Given the description of an element on the screen output the (x, y) to click on. 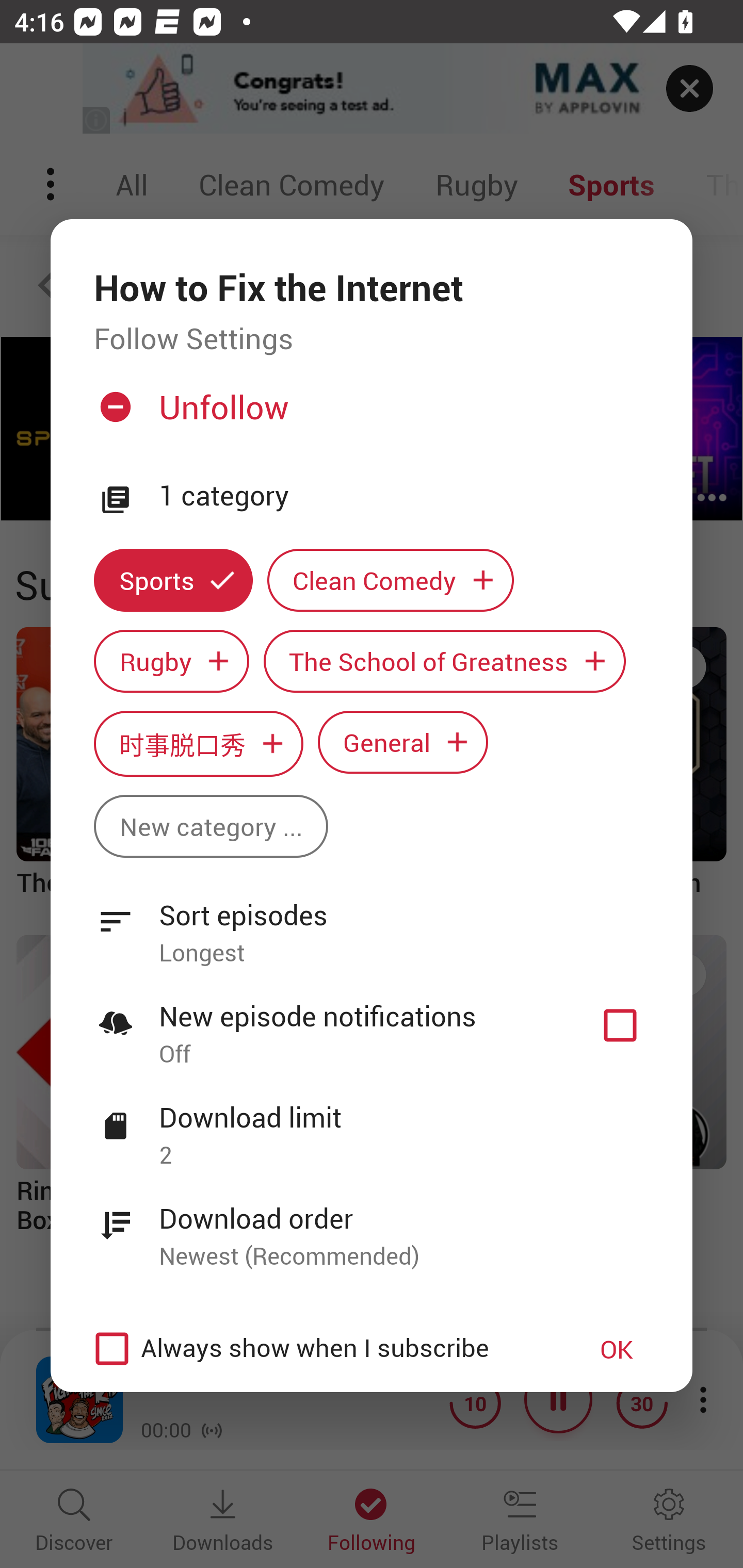
Unfollow (369, 415)
1 category (404, 495)
Sports (172, 579)
Clean Comedy (390, 579)
Rugby (170, 661)
The School of Greatness (444, 661)
时事脱口秀 (198, 743)
General (403, 741)
New category ... (210, 825)
Sort episodes Longest (371, 922)
New episode notifications (620, 1025)
Download limit 2 (371, 1125)
Download order Newest (Recommended) (371, 1226)
OK (616, 1349)
Always show when I subscribe (320, 1349)
